Given the description of an element on the screen output the (x, y) to click on. 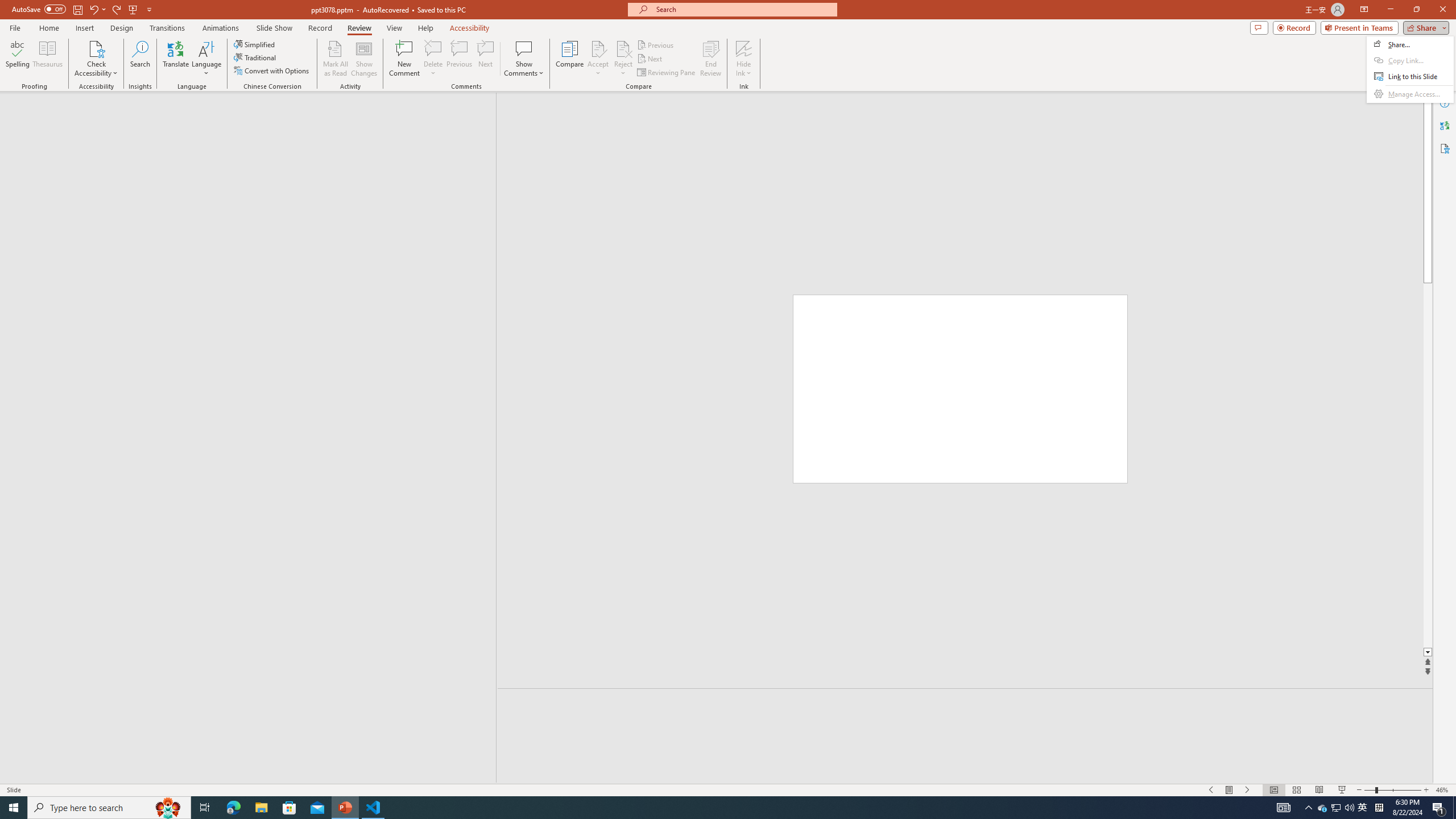
Notification Chevron (1308, 807)
End Review (710, 58)
Running applications (700, 807)
Delete (432, 48)
Previous (655, 44)
Line down (1427, 652)
Translator (1444, 125)
Start (13, 807)
AutomationID: 4105 (1283, 807)
Microsoft Store (289, 807)
